Given the description of an element on the screen output the (x, y) to click on. 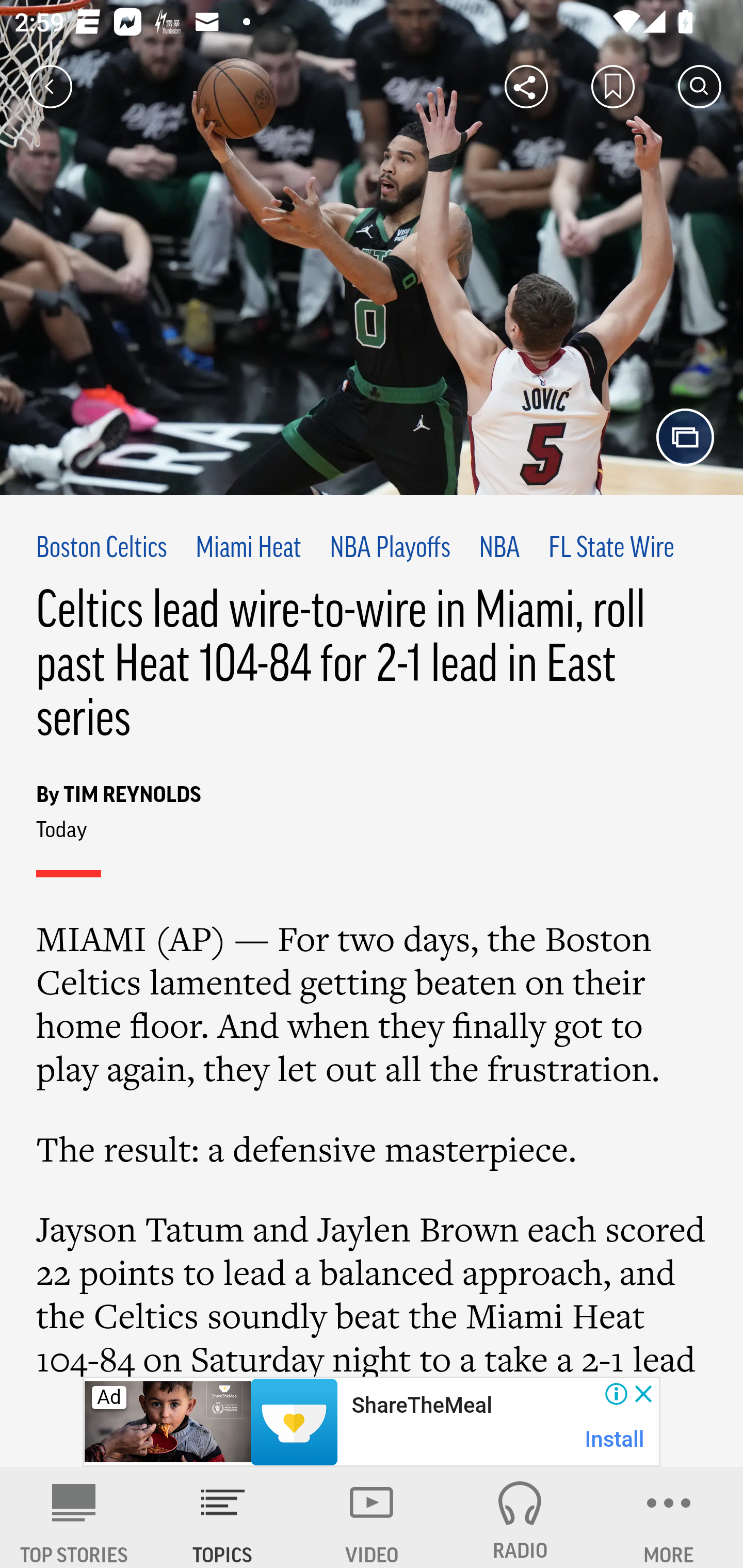
Boston Celtics (101, 549)
Miami Heat (247, 549)
NBA Playoffs (389, 549)
NBA (499, 549)
FL State Wire (610, 549)
ShareTheMeal (420, 1405)
Install (614, 1438)
AP News TOP STORIES (74, 1517)
TOPICS (222, 1517)
VIDEO (371, 1517)
RADIO (519, 1517)
MORE (668, 1517)
